Given the description of an element on the screen output the (x, y) to click on. 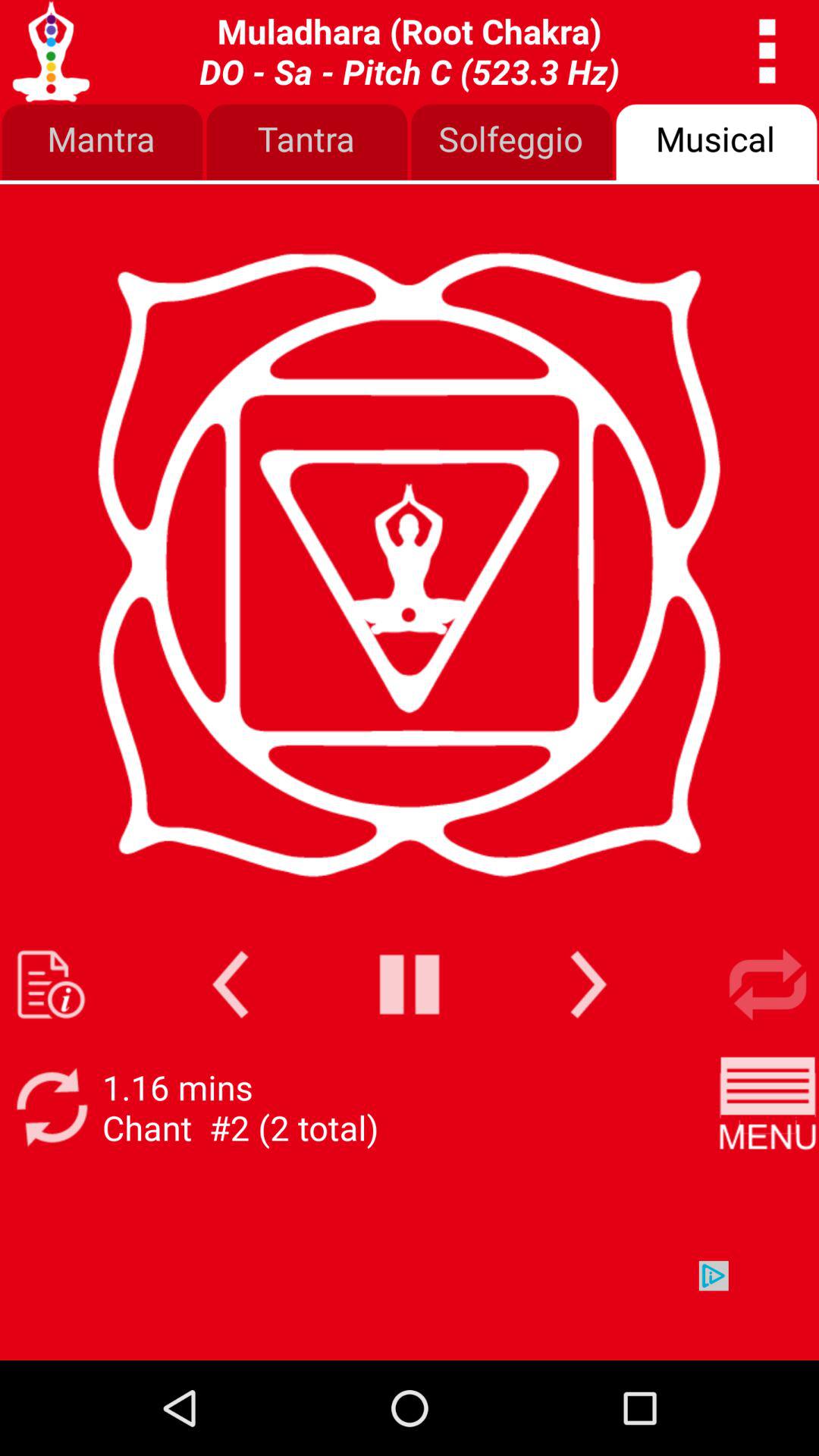
tap app next to the svadhishthana sacral chakra icon (767, 51)
